Given the description of an element on the screen output the (x, y) to click on. 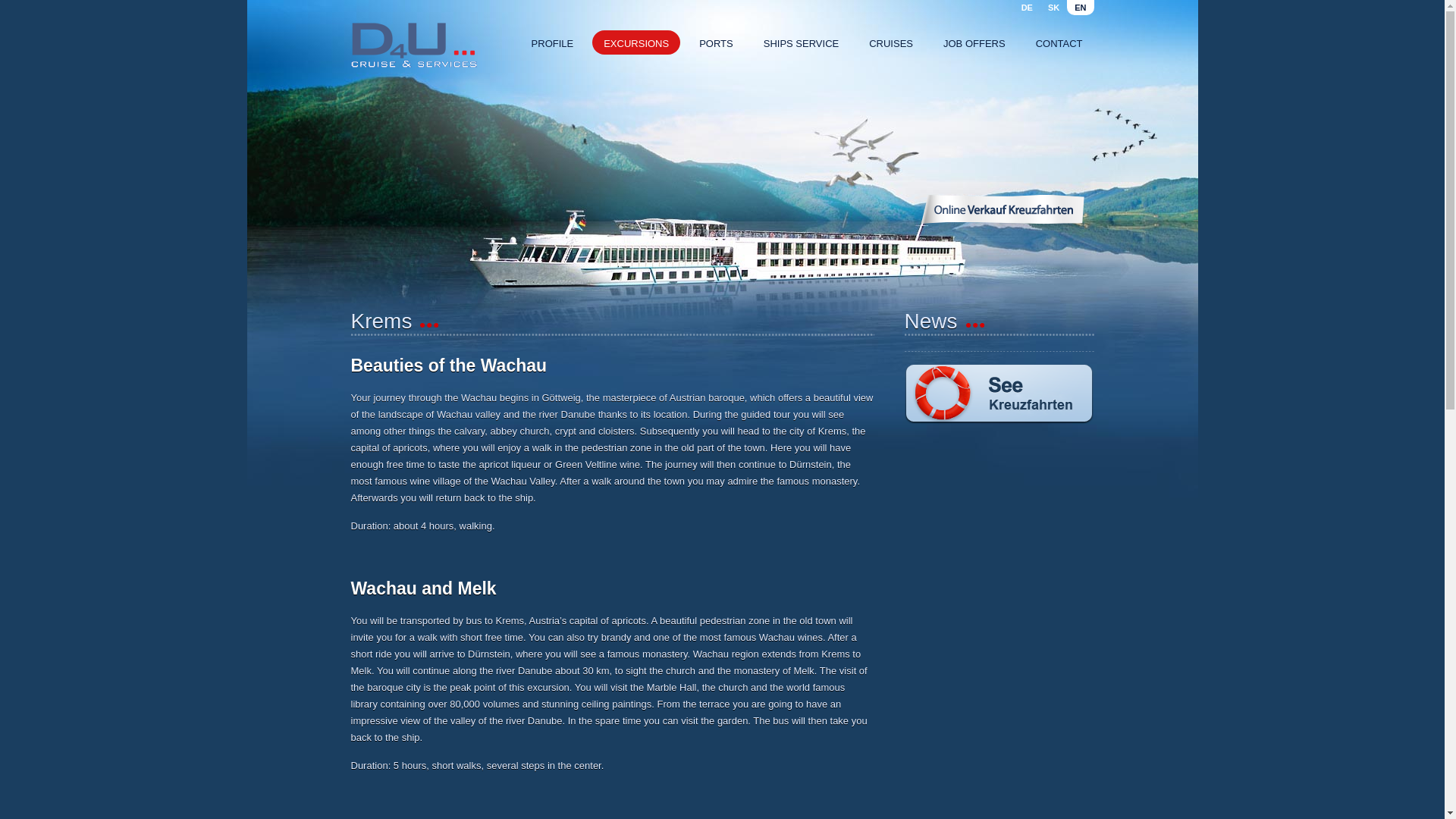
SK (1054, 7)
Deutsch (1027, 7)
EXCURSIONS (635, 42)
Danube4u (413, 44)
SHIPS SERVICE (801, 42)
CONTACT (1059, 42)
JOB OFFERS (973, 42)
CRUISES (890, 42)
PORTS (715, 42)
EN (1080, 7)
DE (1027, 7)
Online Verkauf Kreuzfahrten (1002, 208)
PROFILE (552, 42)
